Given the description of an element on the screen output the (x, y) to click on. 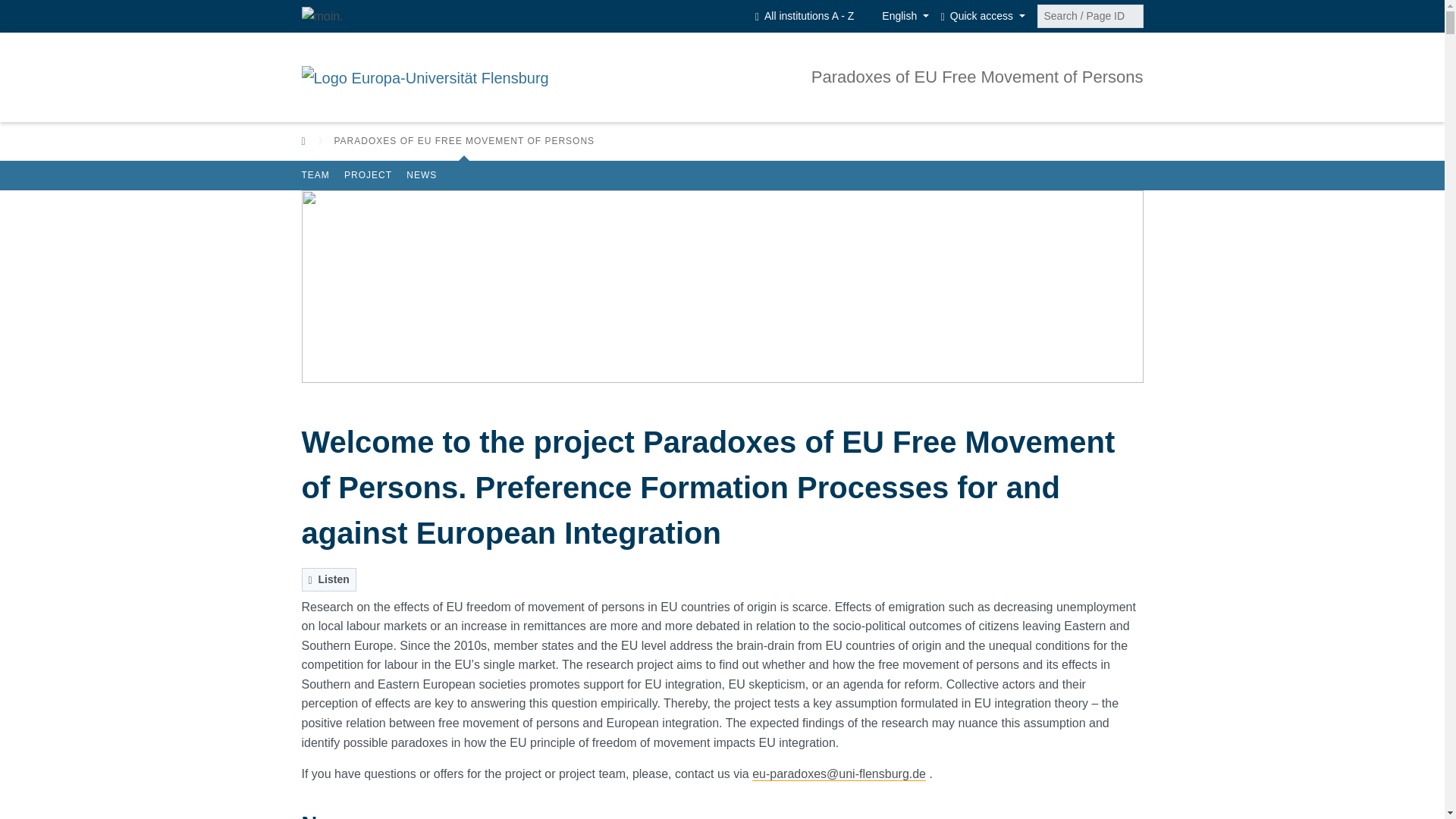
All institutions A - Z (804, 15)
Listen (328, 578)
Listen to this page using ReadSpeaker (328, 578)
Paradoxes of EU Free Movement of Persons (976, 76)
NEWS (421, 175)
Back to homepage (307, 141)
Back to homepage (303, 141)
TEAM (315, 175)
You have selected the English version of this page. (897, 15)
English (897, 15)
Quick access (982, 15)
Homepage of "Paradoxes of EU Free Movement of Persons" (976, 76)
Back to homepage (424, 77)
